Given the description of an element on the screen output the (x, y) to click on. 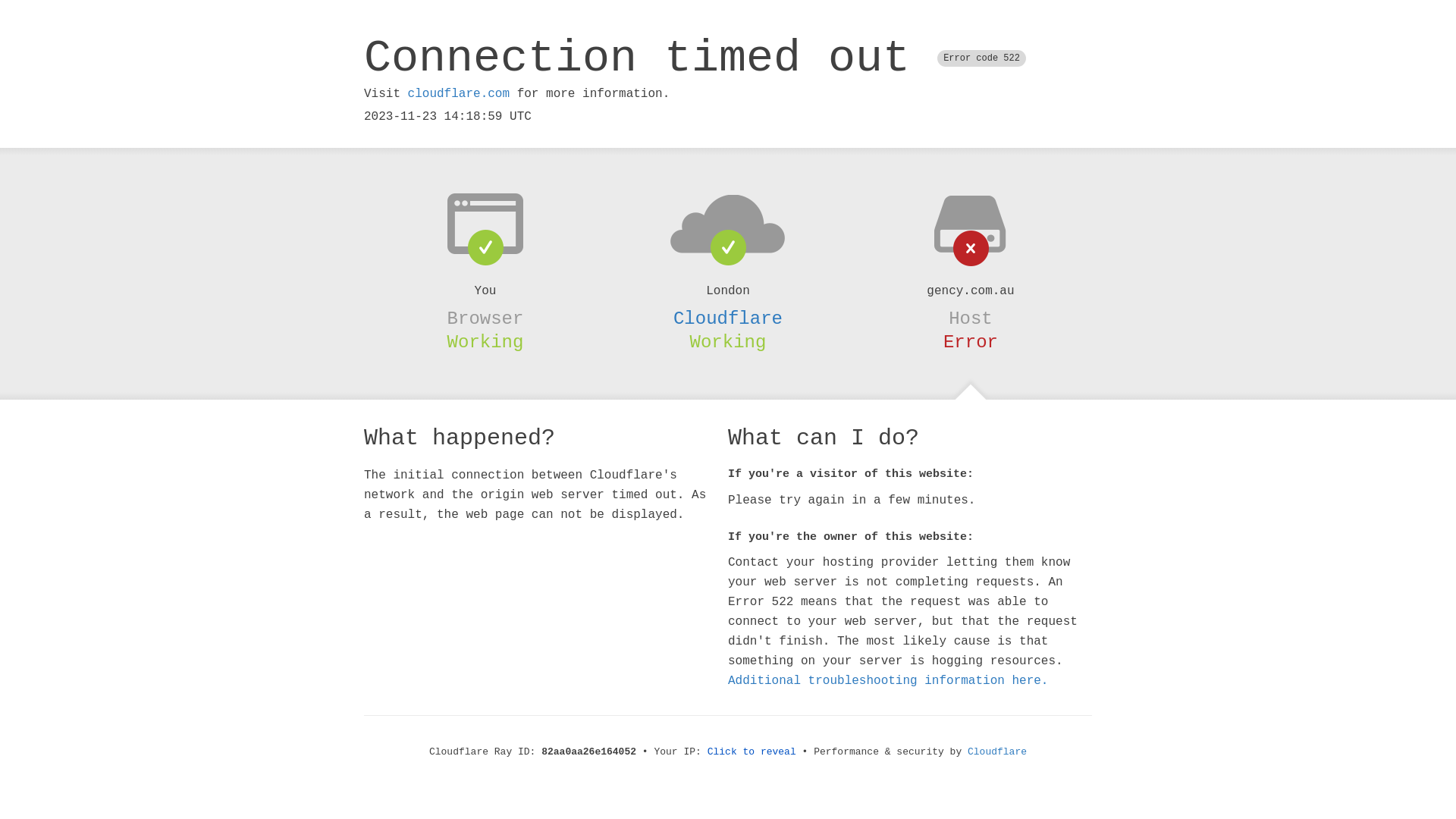
Click to reveal Element type: text (751, 751)
Additional troubleshooting information here. Element type: text (888, 680)
cloudflare.com Element type: text (458, 93)
Cloudflare Element type: text (727, 318)
Cloudflare Element type: text (996, 751)
